Given the description of an element on the screen output the (x, y) to click on. 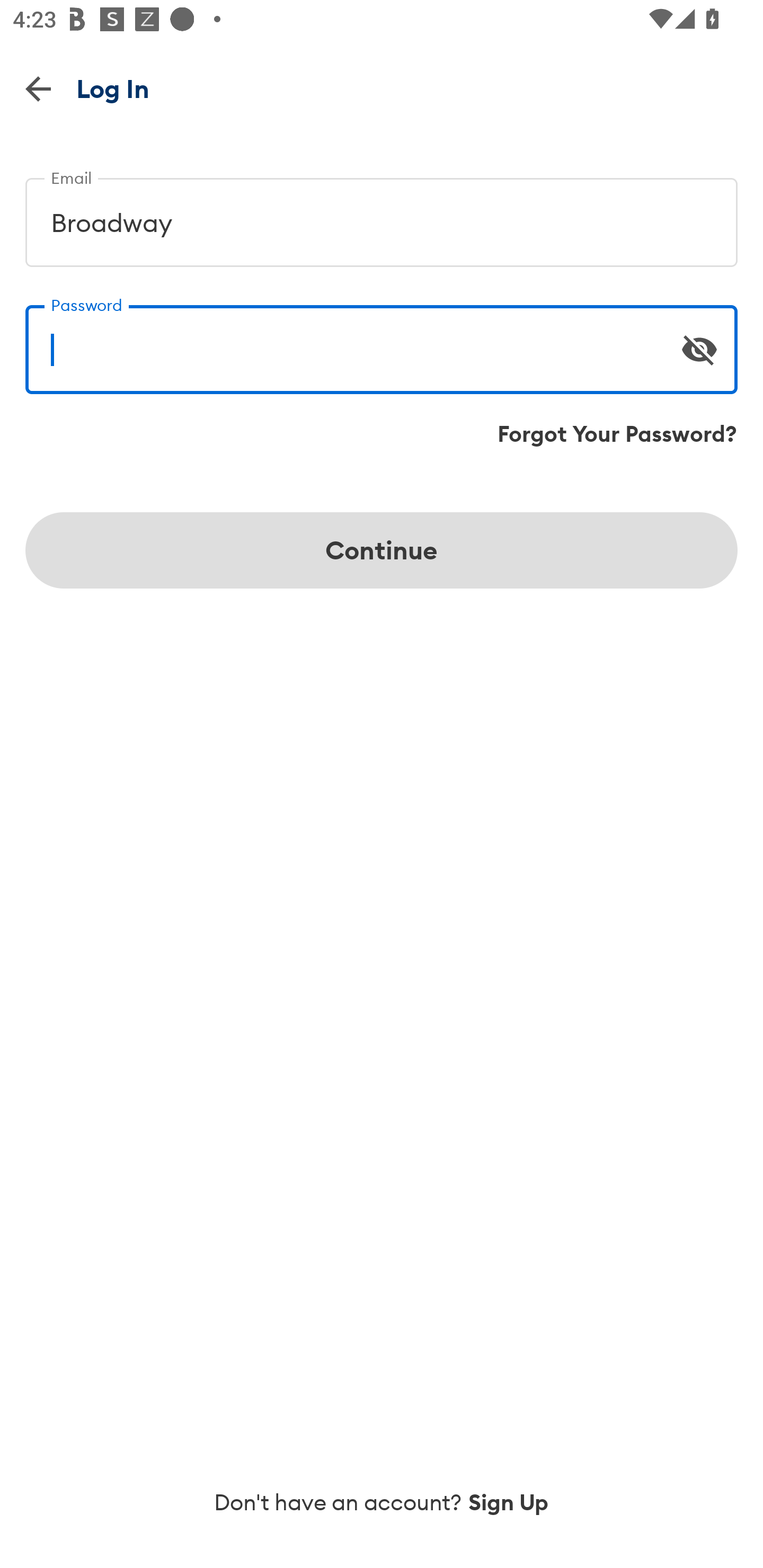
Back (38, 88)
Broadway Email (381, 215)
Password (381, 342)
Forgot Your Password? (617, 433)
Continue (381, 550)
Sign Up (508, 1502)
